Given the description of an element on the screen output the (x, y) to click on. 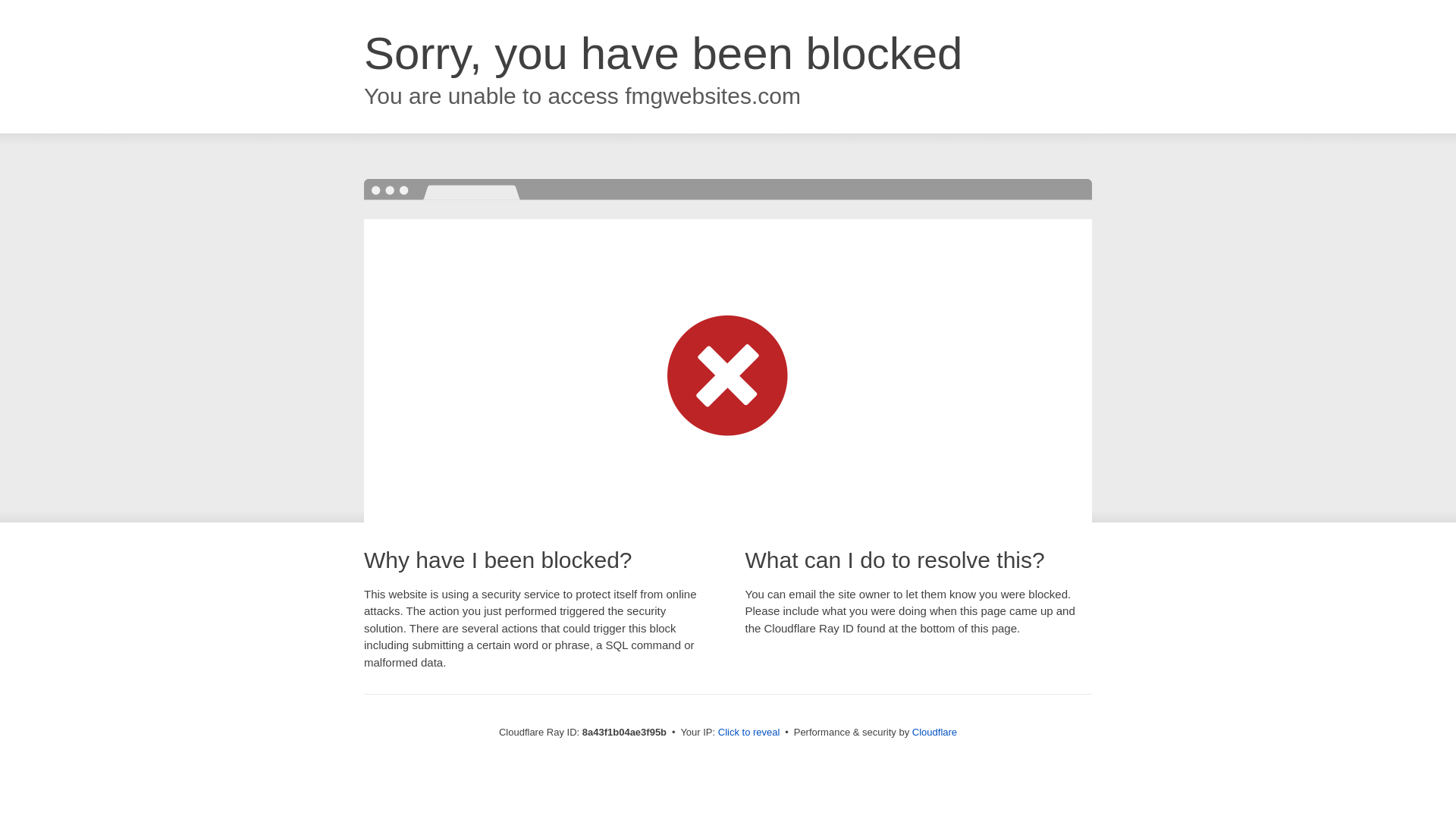
Click to reveal (748, 732)
Cloudflare (934, 731)
